Given the description of an element on the screen output the (x, y) to click on. 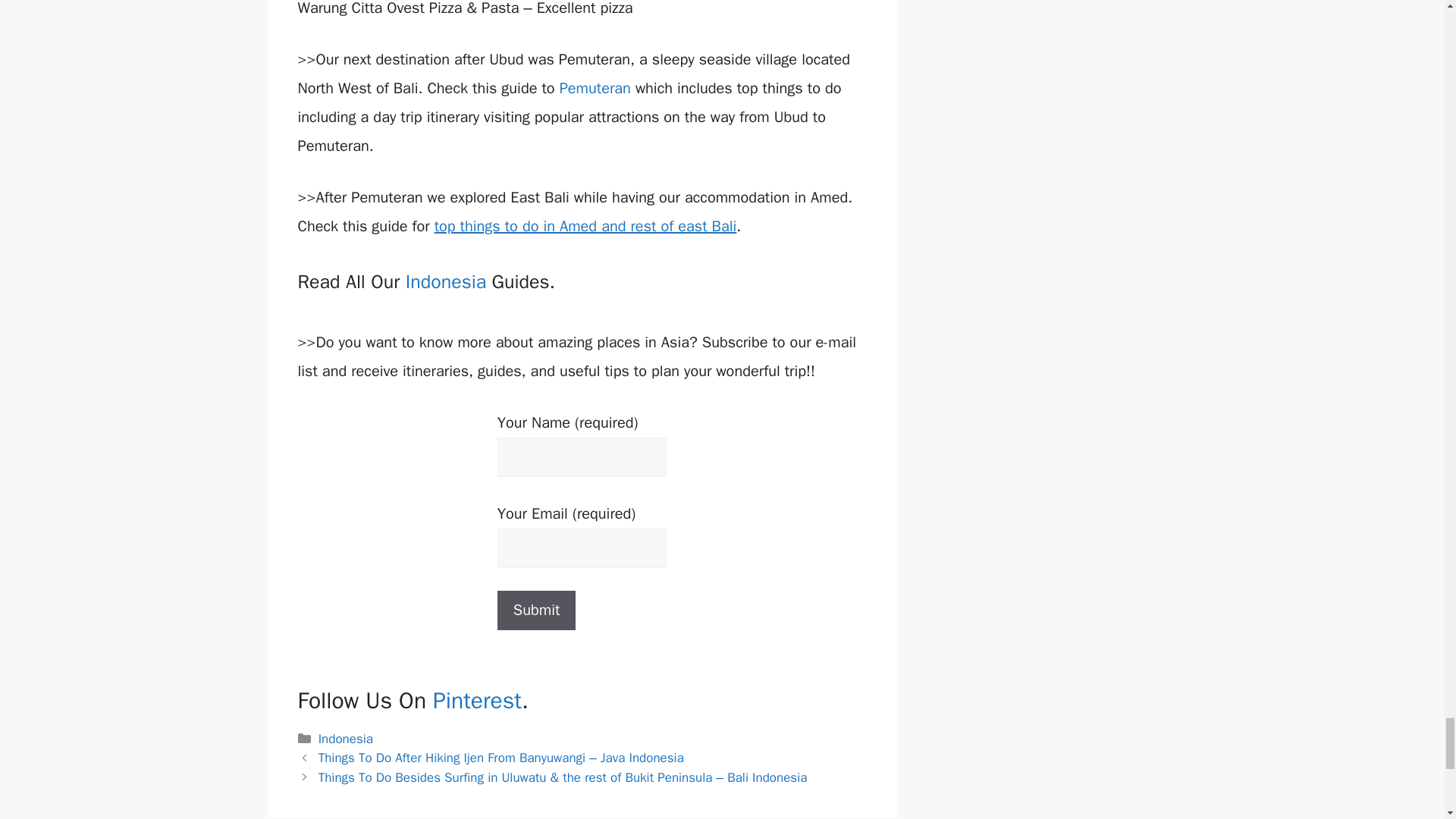
Indonesia (446, 281)
Submit (536, 609)
Pemuteran (594, 87)
top things to do in Amed and rest of east Bali (584, 226)
Indonesia (345, 738)
Submit (536, 609)
Pinterest (476, 700)
